Given the description of an element on the screen output the (x, y) to click on. 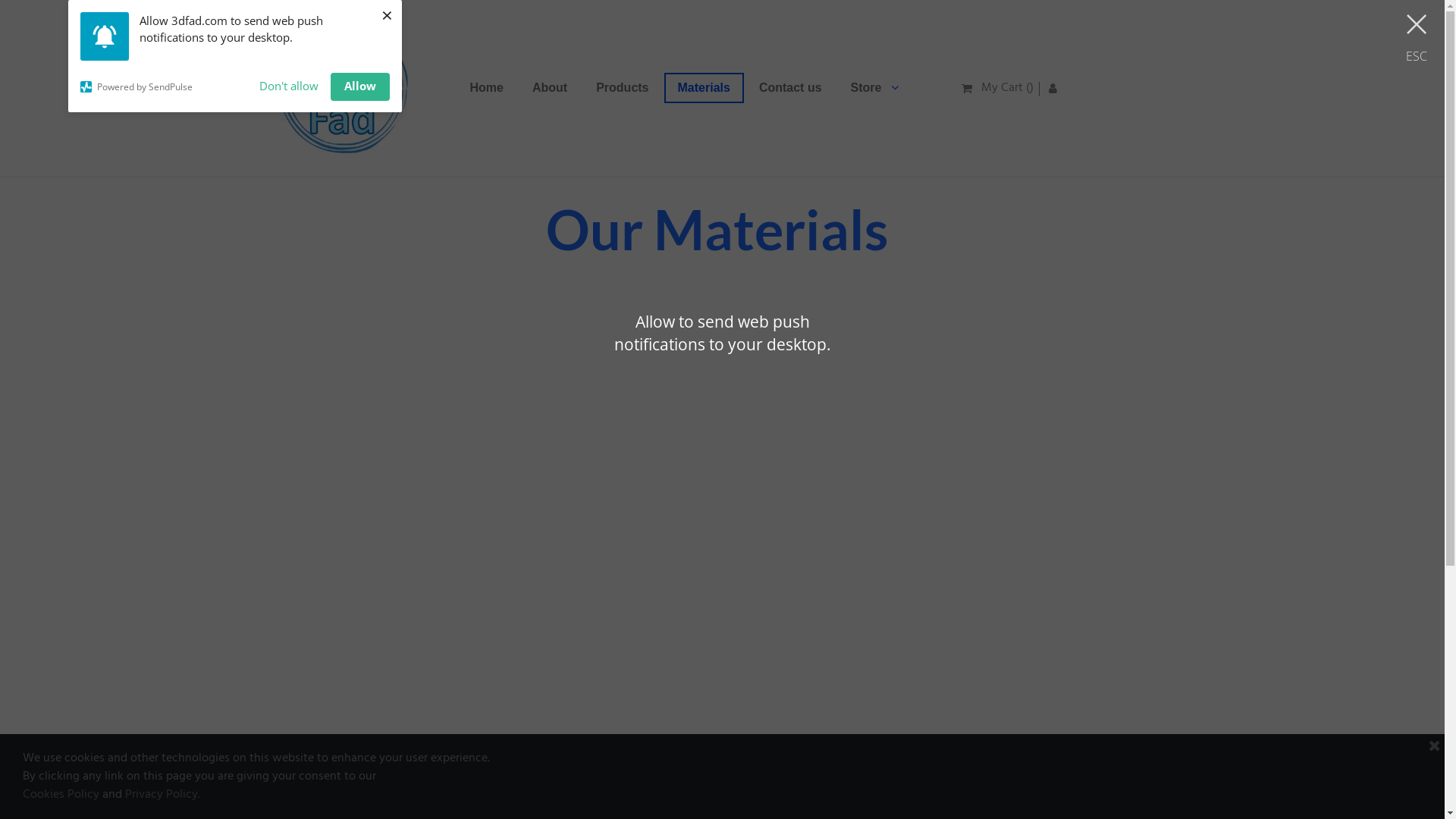
Home Element type: text (486, 87)
Powered by SendPulse Element type: text (163, 86)
Allow Element type: text (359, 86)
Privacy Policy. Element type: text (162, 794)
Products Element type: text (622, 87)
Contact us Element type: text (790, 87)
Cookies Policy Element type: text (60, 794)
Store Element type: text (875, 87)
Don't allow Element type: text (288, 86)
About Element type: text (549, 87)
My Cart () Element type: text (997, 86)
Materials Element type: text (703, 87)
